Given the description of an element on the screen output the (x, y) to click on. 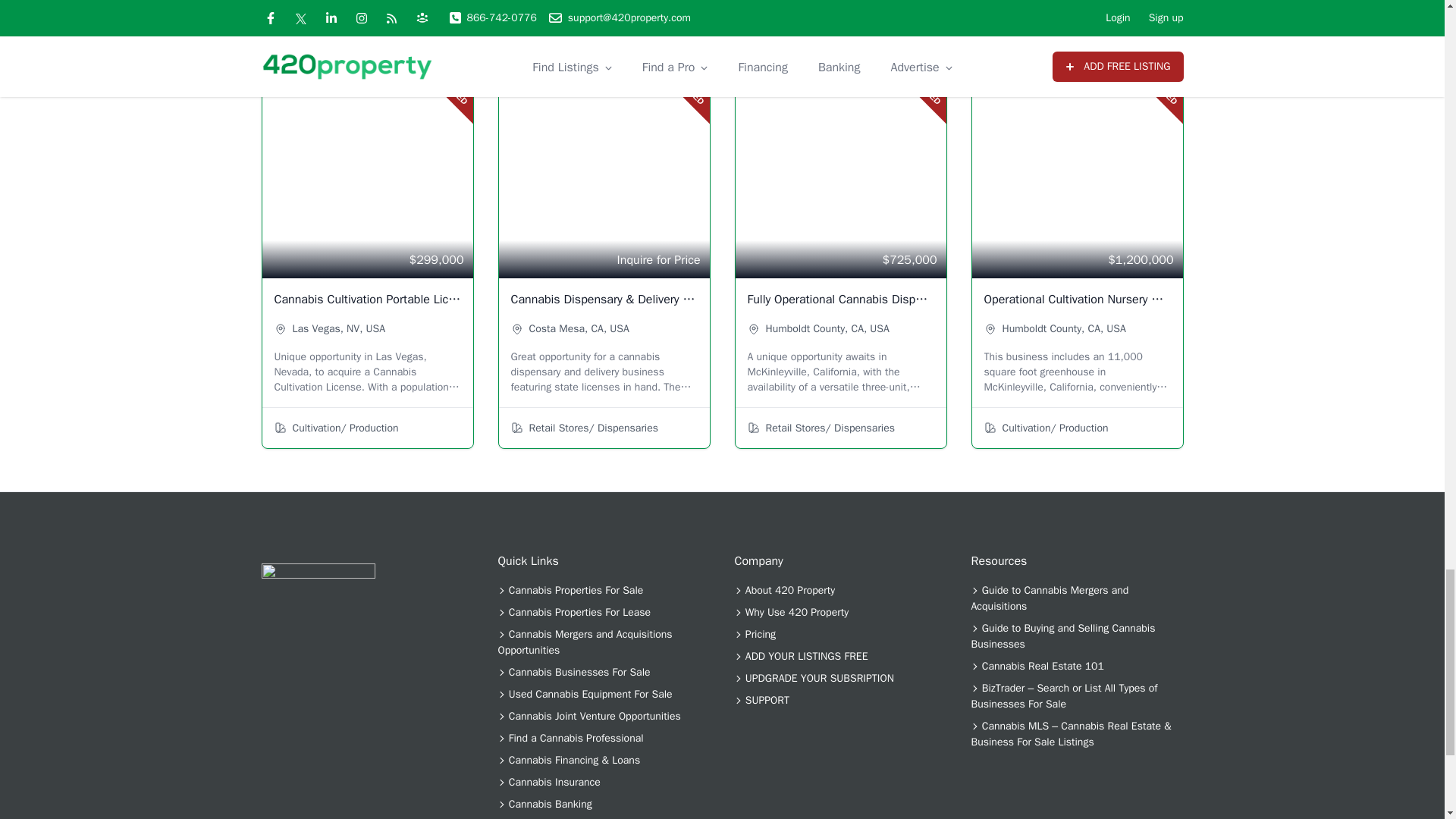
The Cannabis Industry (317, 620)
